Given the description of an element on the screen output the (x, y) to click on. 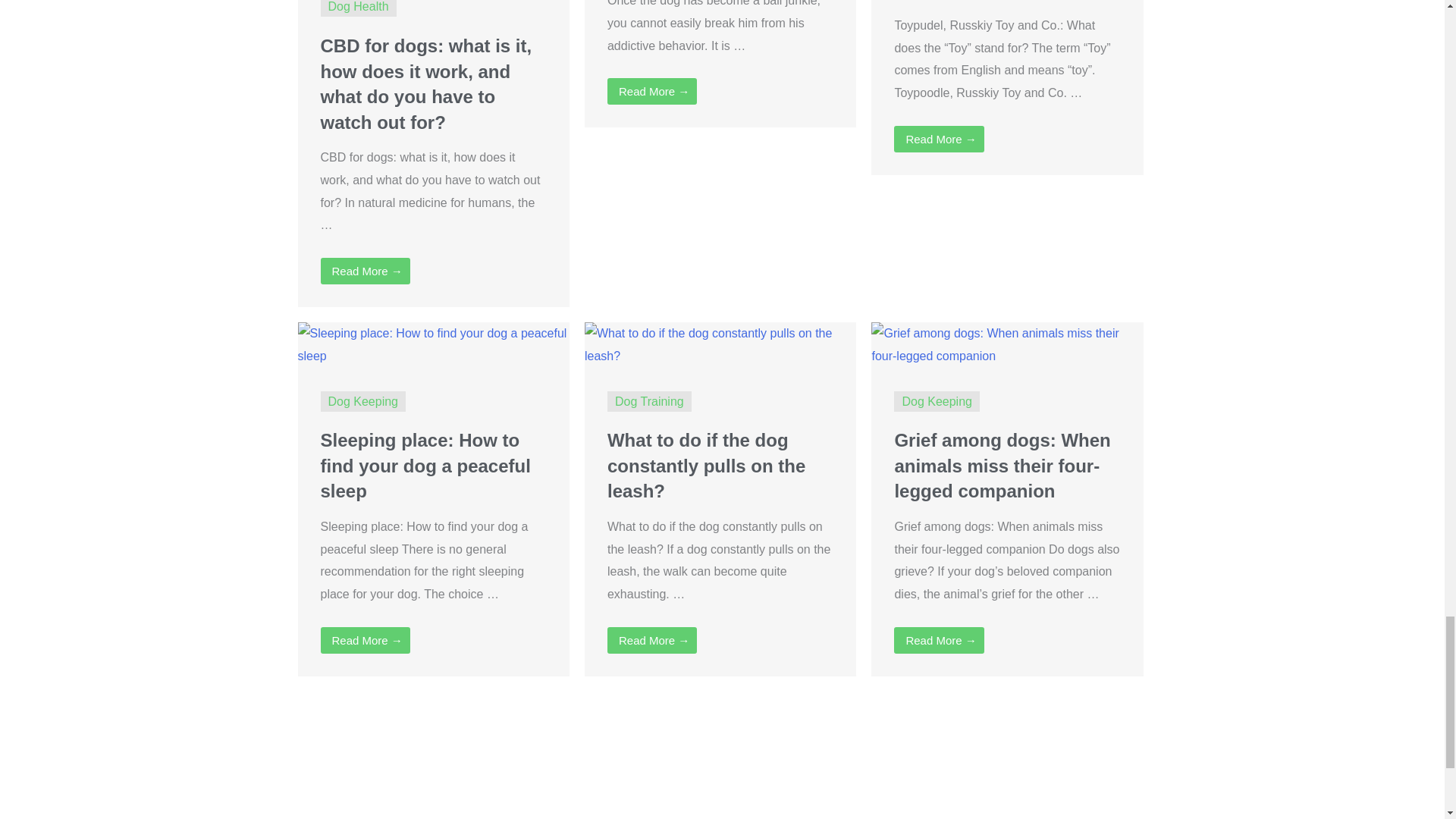
Dog Training (649, 400)
What to do if the dog constantly pulls on the leash? (706, 465)
What to do if the dog constantly pulls on the leash? (720, 343)
Sleeping place: How to find your dog a peaceful sleep (424, 465)
Dog Keeping (362, 400)
Dog Health (357, 6)
Sleeping place: How to find your dog a peaceful sleep (433, 343)
Dog Keeping (936, 400)
